Given the description of an element on the screen output the (x, y) to click on. 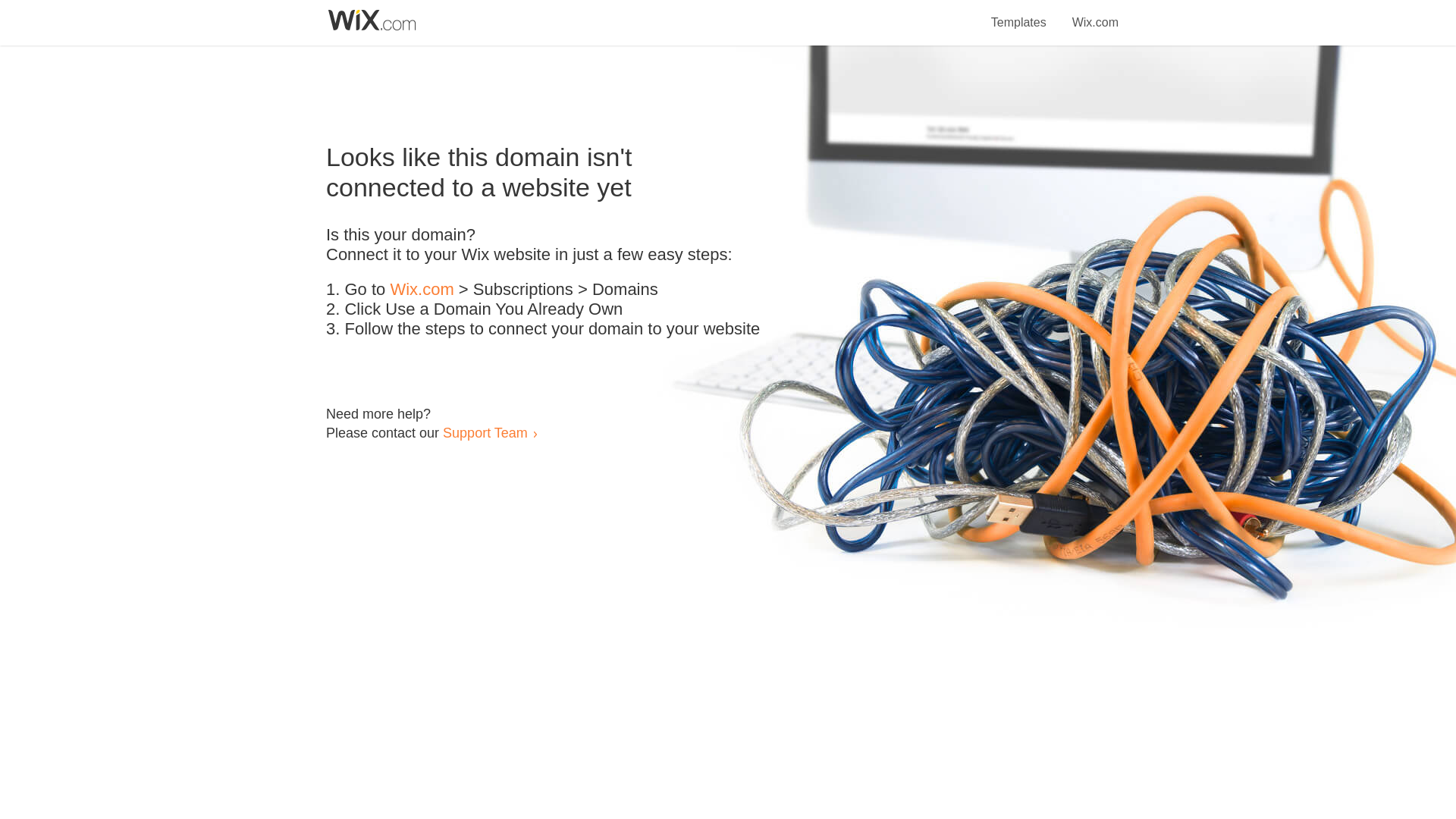
Templates (1018, 14)
Wix.com (1095, 14)
Support Team (484, 432)
Wix.com (421, 289)
